Given the description of an element on the screen output the (x, y) to click on. 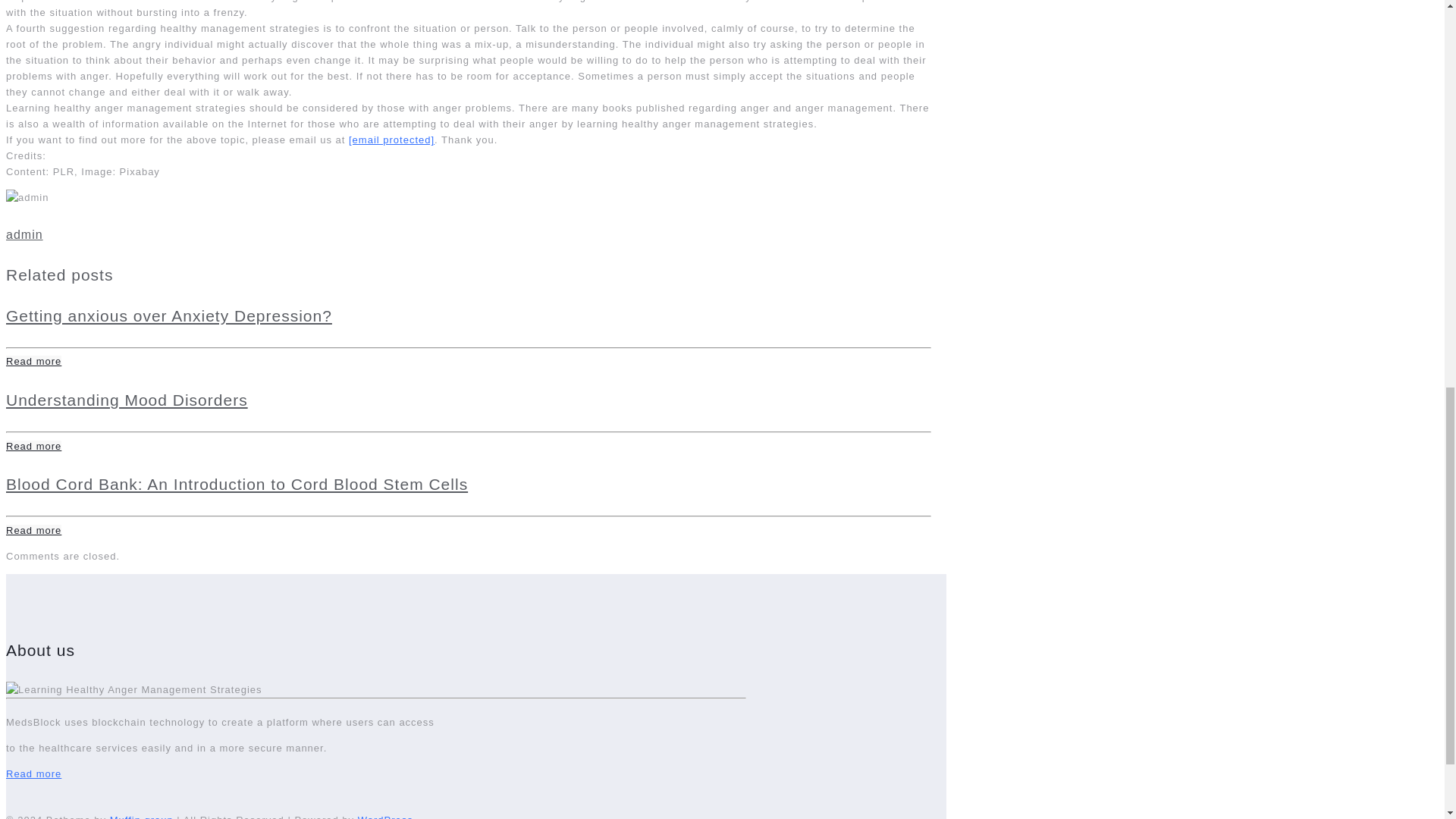
Blood Cord Bank: An Introduction to Cord Blood Stem Cells (236, 484)
Read more (33, 530)
Understanding Mood Disorders (126, 399)
Read more (33, 360)
Muffin group (141, 816)
Read more (33, 446)
Getting anxious over Anxiety Depression? (168, 315)
Read more (33, 773)
admin (24, 234)
WordPress (385, 816)
